Given the description of an element on the screen output the (x, y) to click on. 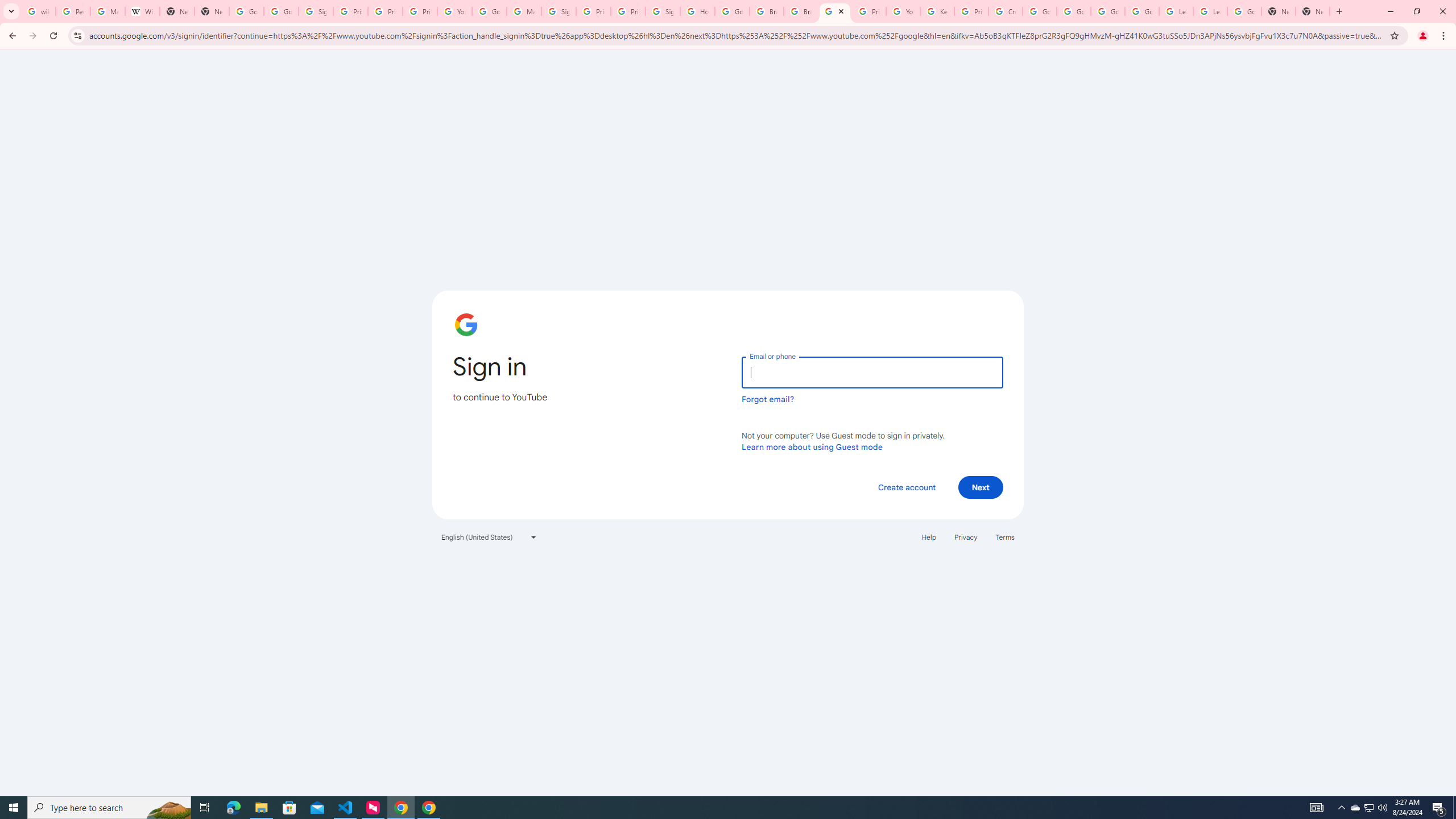
Google Account (1243, 11)
English (United States) (489, 536)
Google Account Help (1107, 11)
